Given the description of an element on the screen output the (x, y) to click on. 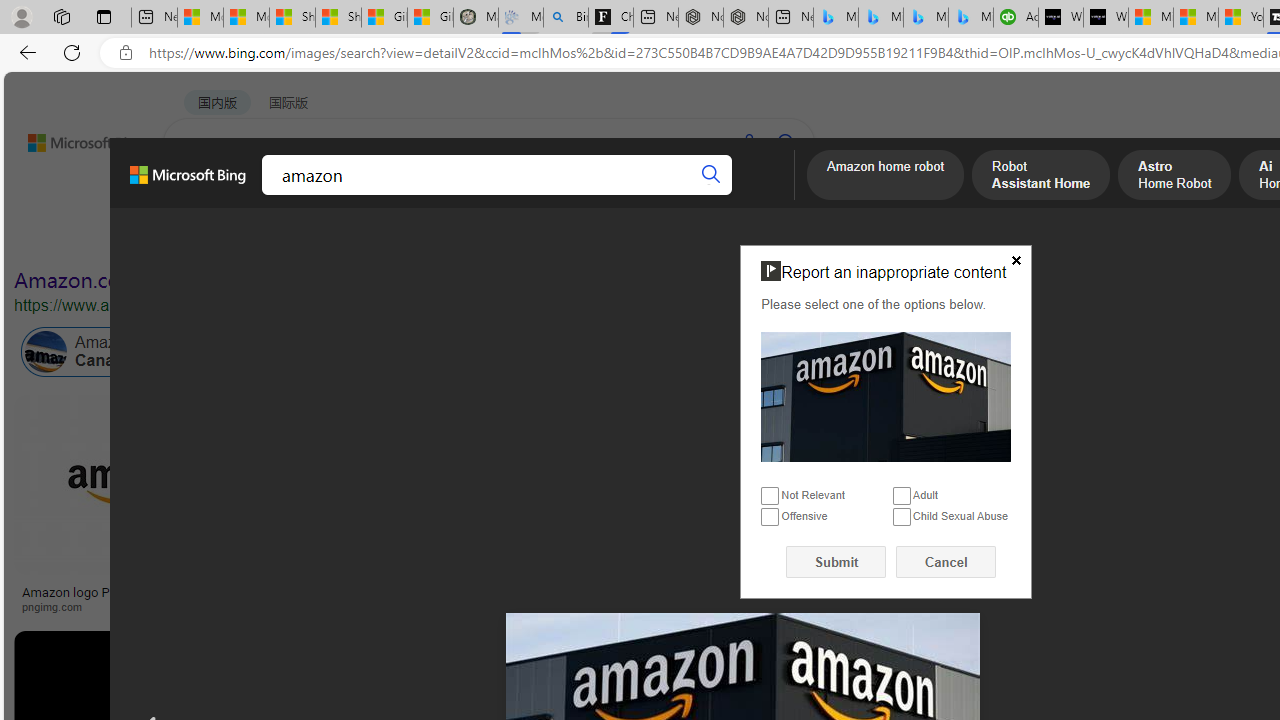
Report an inappropriate content (886, 396)
Amazon Canada Online (114, 351)
Image size (221, 237)
Not Relevant (770, 496)
Amazon India (893, 351)
Kindle Paperwhite Case (1183, 524)
Amazon Cloud (606, 351)
WEB (201, 195)
License (664, 237)
Type (373, 237)
